Given the description of an element on the screen output the (x, y) to click on. 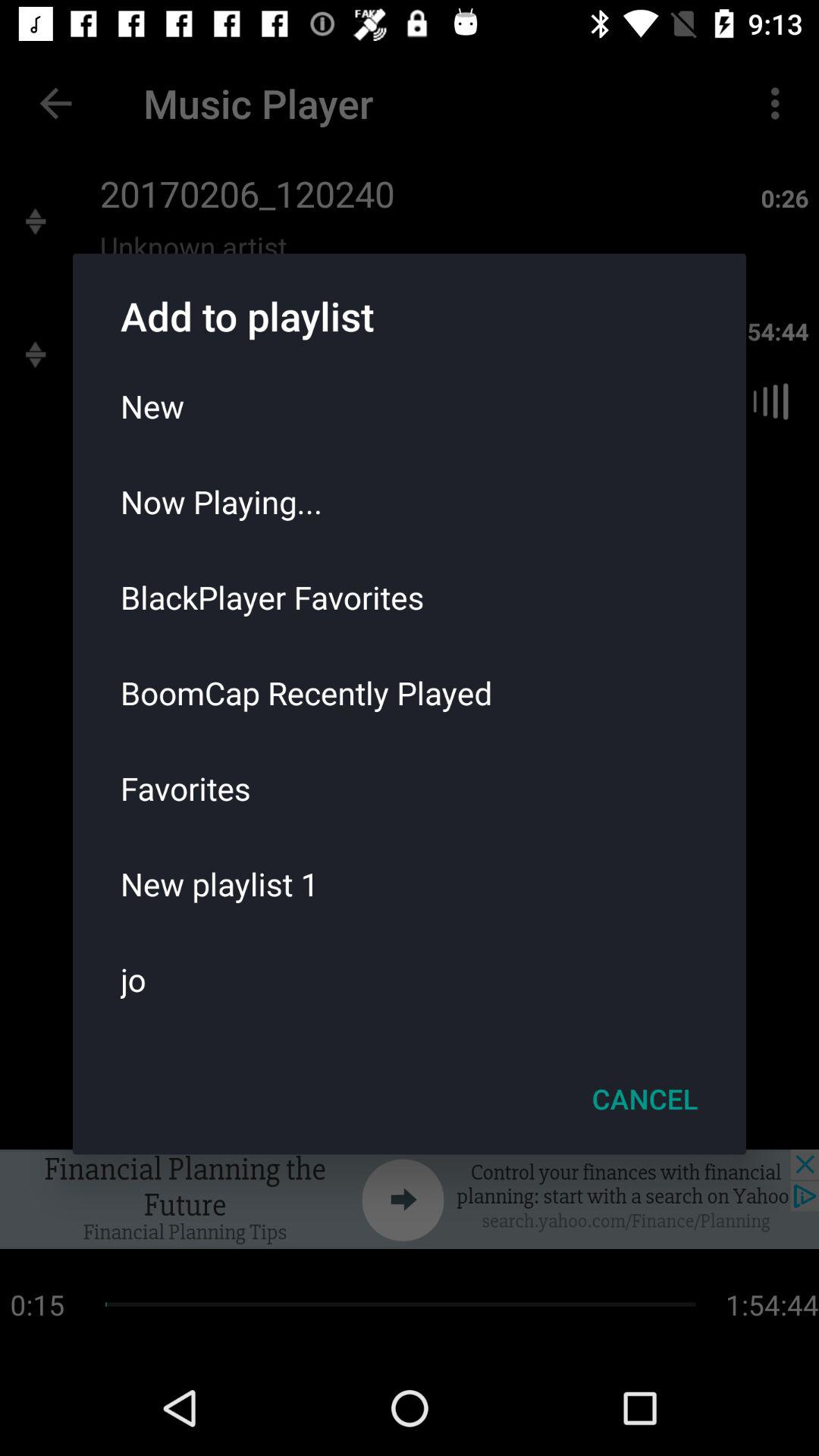
open icon above the favorites (409, 692)
